Given the description of an element on the screen output the (x, y) to click on. 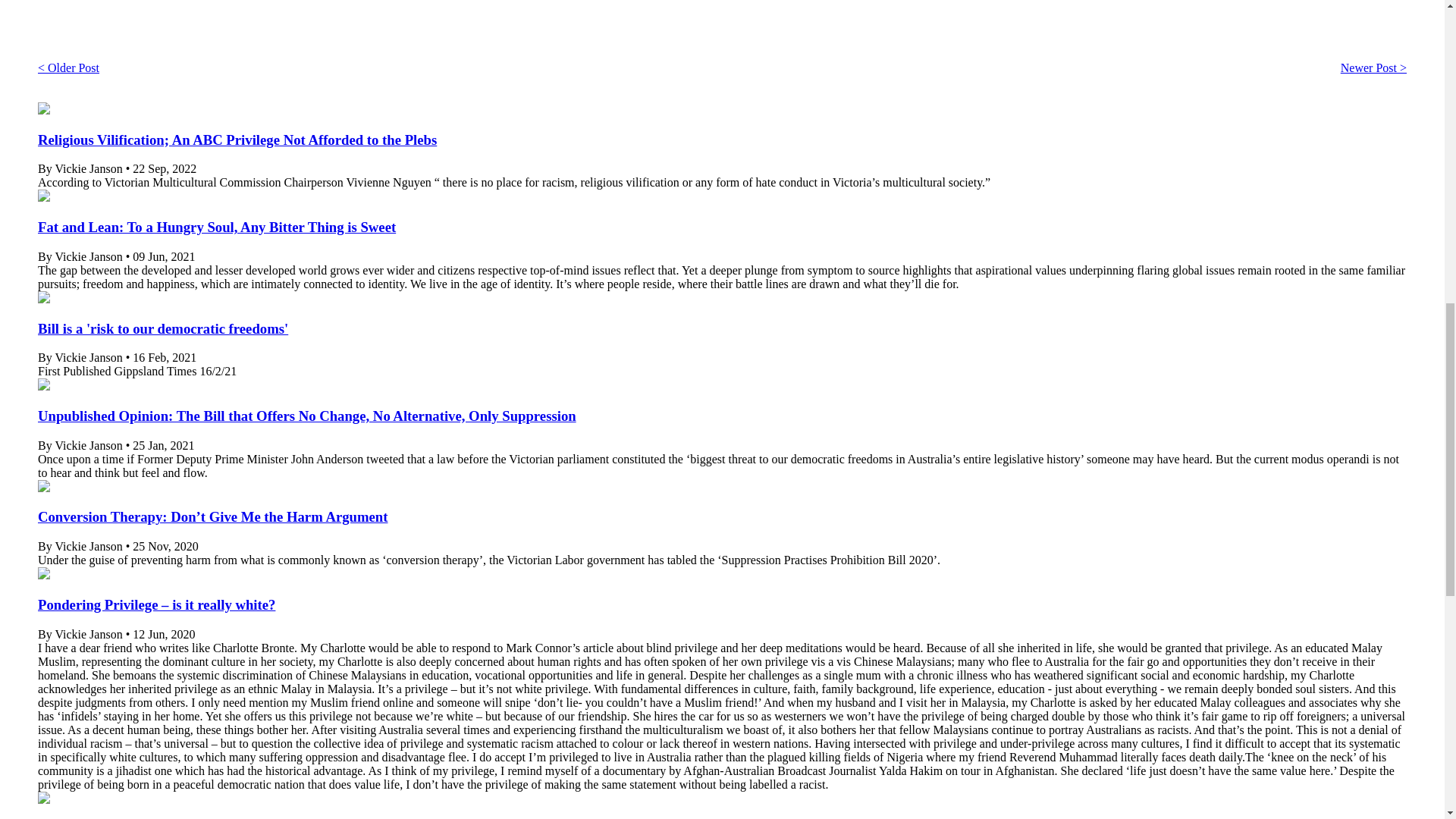
Fat and Lean: To a Hungry Soul, Any Bitter Thing is Sweet (216, 227)
Bill is a 'risk to our democratic freedoms' (162, 328)
